Given the description of an element on the screen output the (x, y) to click on. 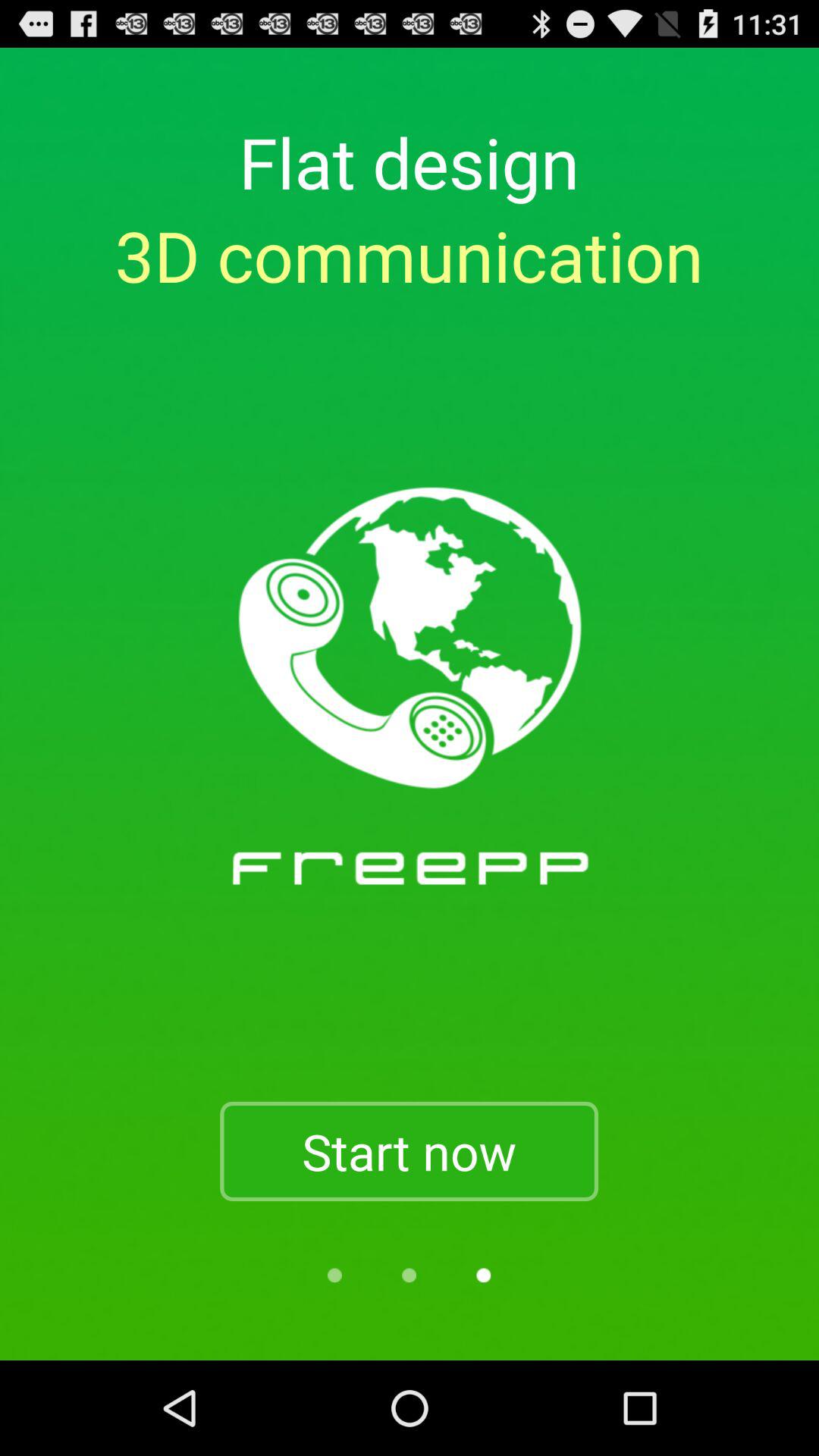
previous page button (334, 1275)
